Given the description of an element on the screen output the (x, y) to click on. 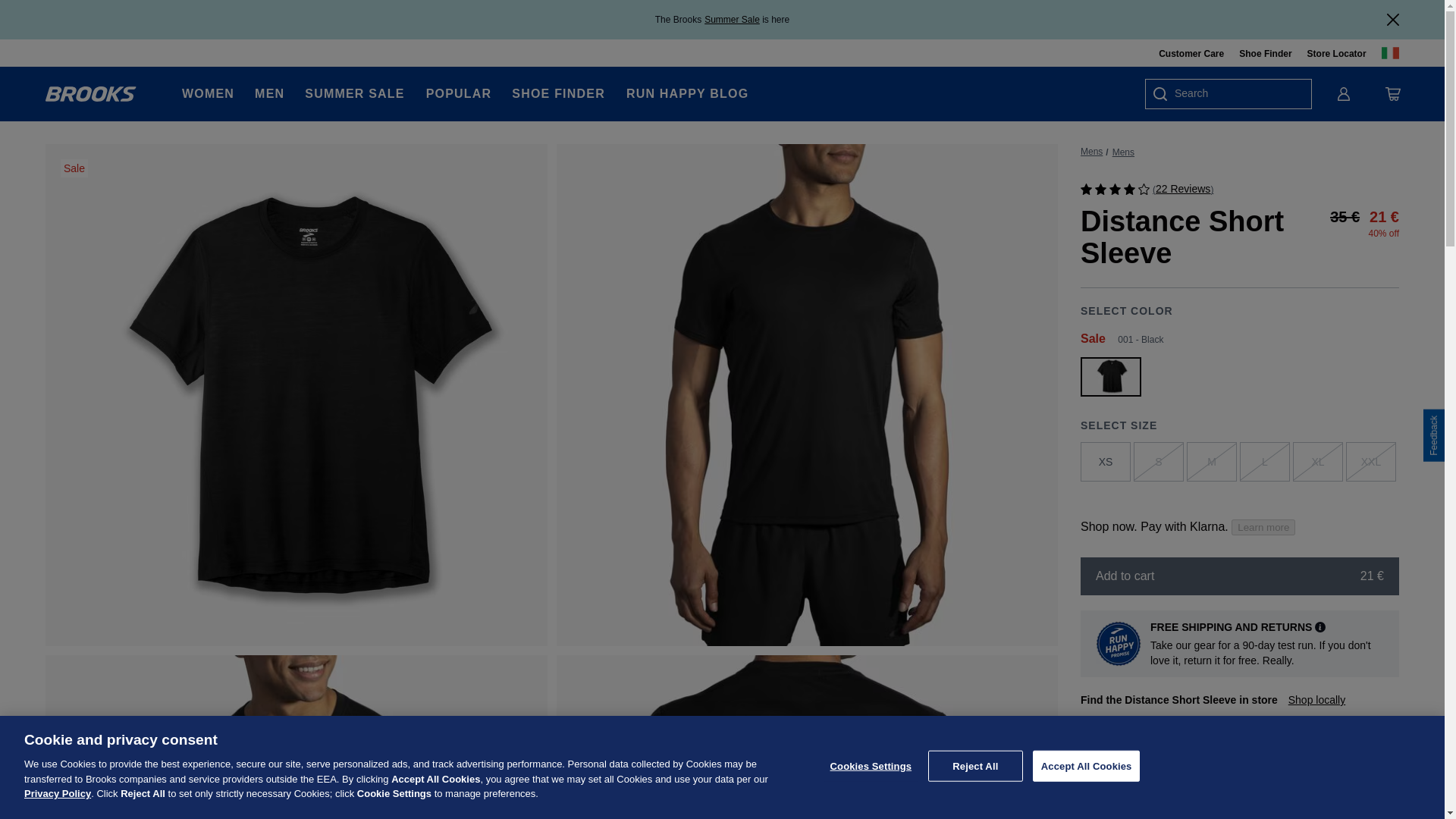
Shoe Finder (1265, 53)
Close (1393, 19)
Link to Store Locator page (1337, 53)
To the Women category (208, 93)
Skip to main content (55, 15)
Customer Care (1191, 53)
Skip to footer content (56, 15)
WOMEN (208, 93)
Close (1393, 19)
Link to Shoe Finder page (1265, 53)
Running shoes and apparel by Brooks Running (90, 93)
To the Popular category (459, 93)
To the Summer Sale category (354, 93)
summer sale (732, 19)
Link to Customer Care page (1191, 53)
